Given the description of an element on the screen output the (x, y) to click on. 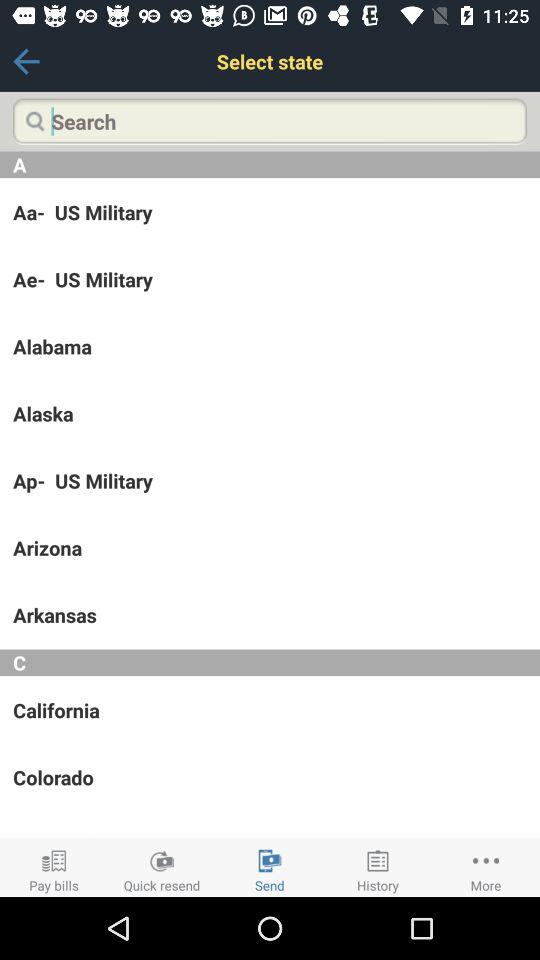
turn on the icon next to the select state icon (26, 61)
